Given the description of an element on the screen output the (x, y) to click on. 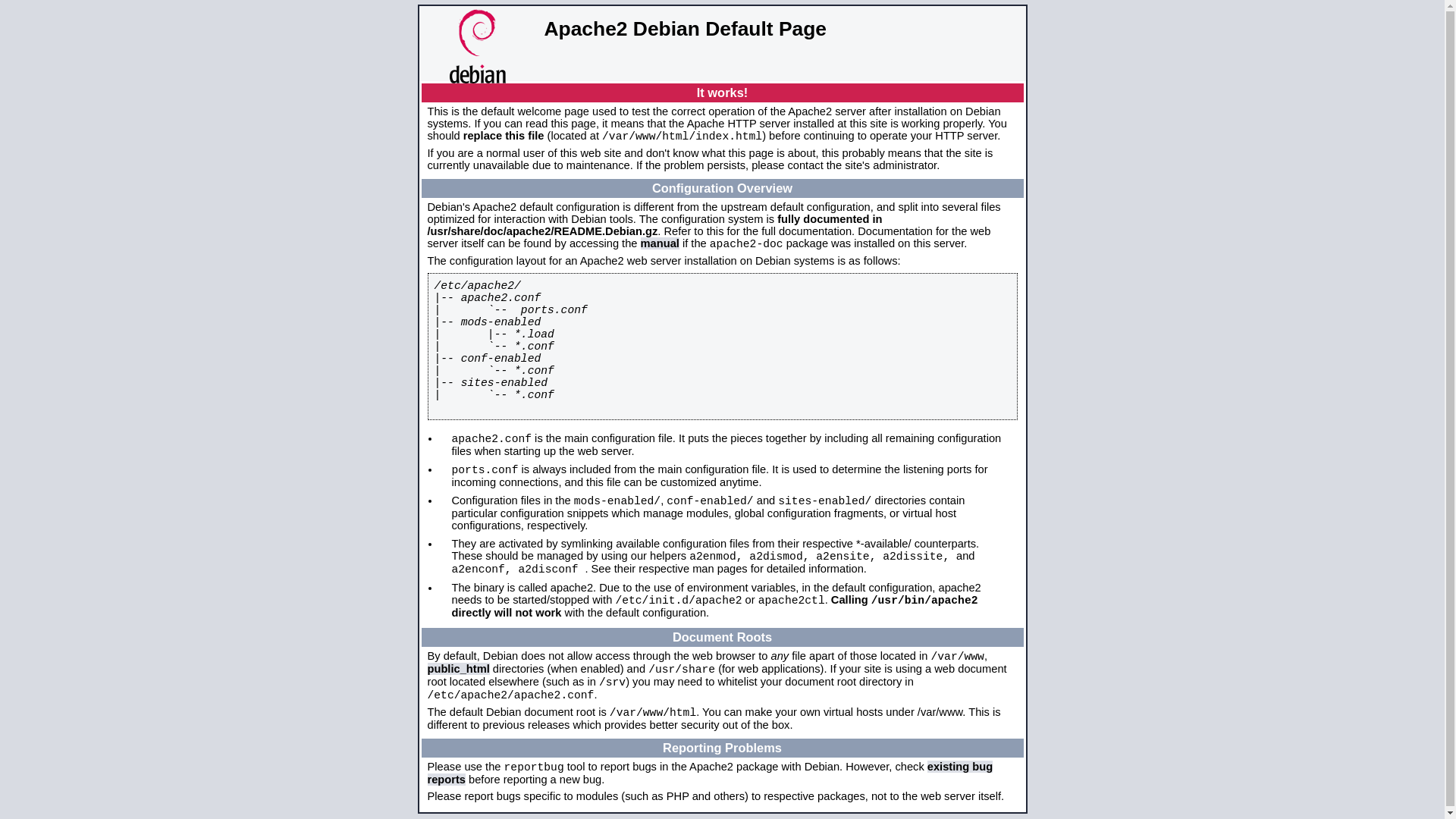
existing bug reports Element type: text (710, 772)
manual Element type: text (659, 243)
public_html Element type: text (458, 668)
